Given the description of an element on the screen output the (x, y) to click on. 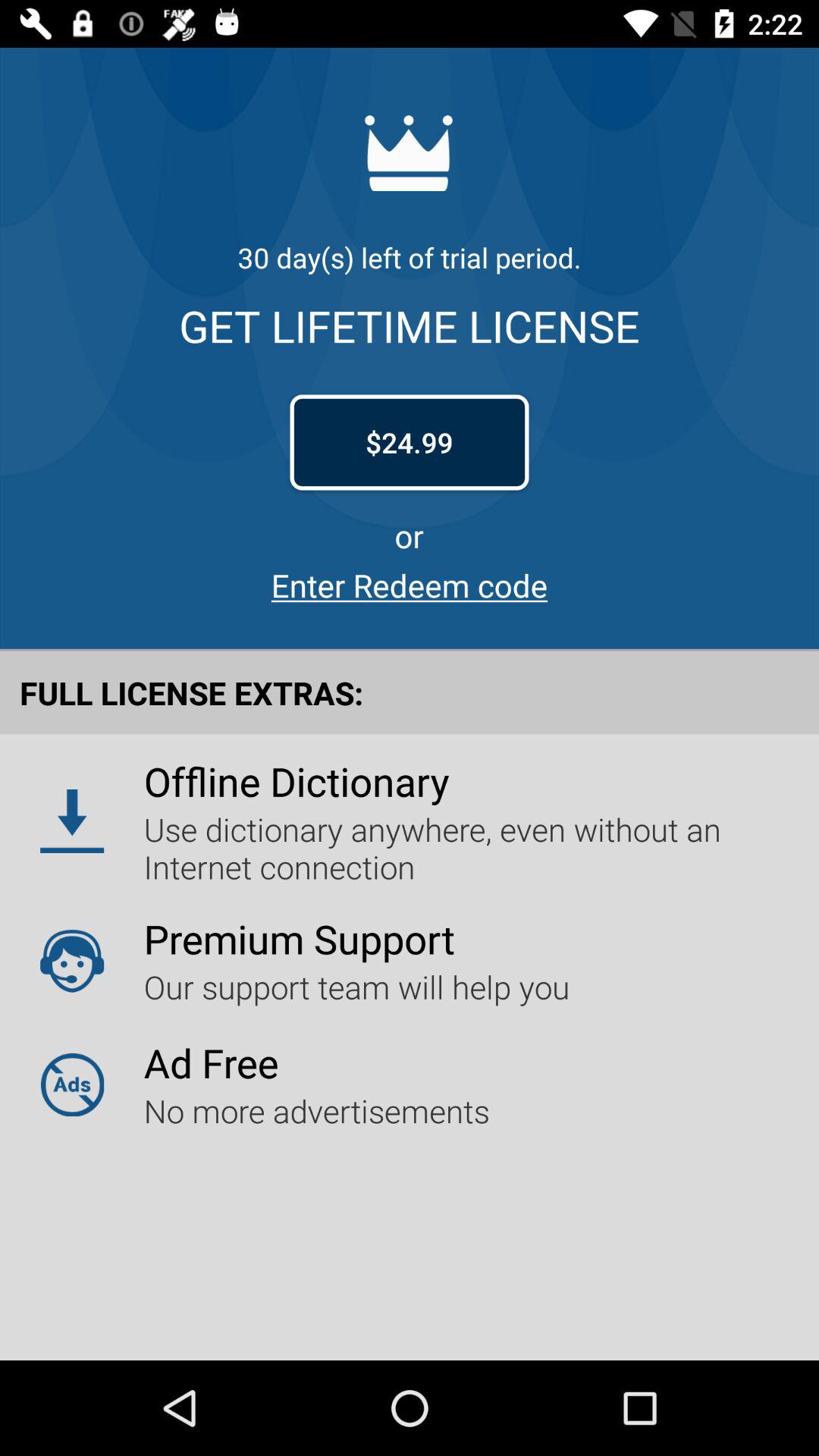
scroll to the enter redeem code (409, 584)
